Given the description of an element on the screen output the (x, y) to click on. 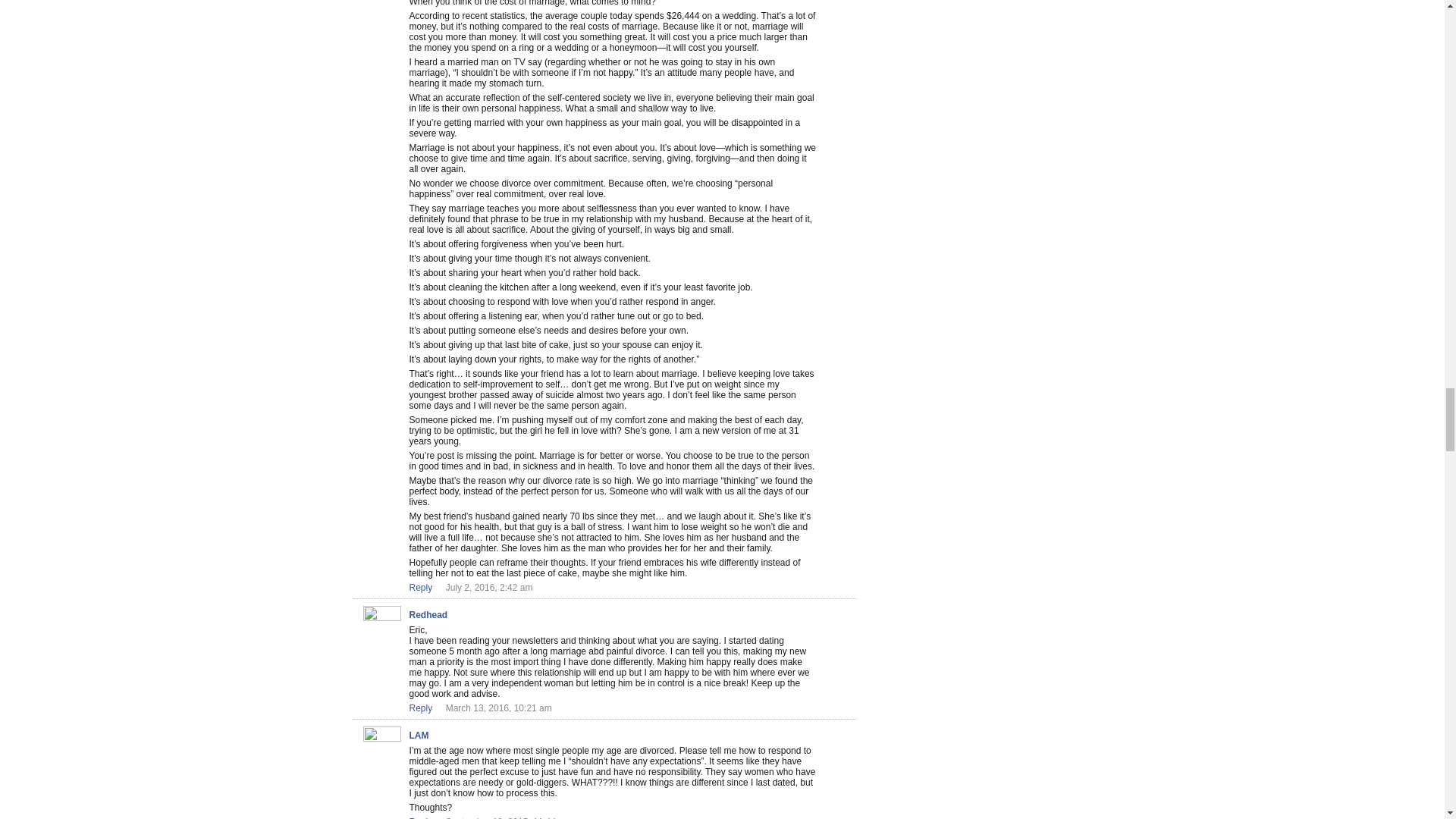
Reply (420, 817)
Reply (420, 587)
Reply (420, 707)
